Given the description of an element on the screen output the (x, y) to click on. 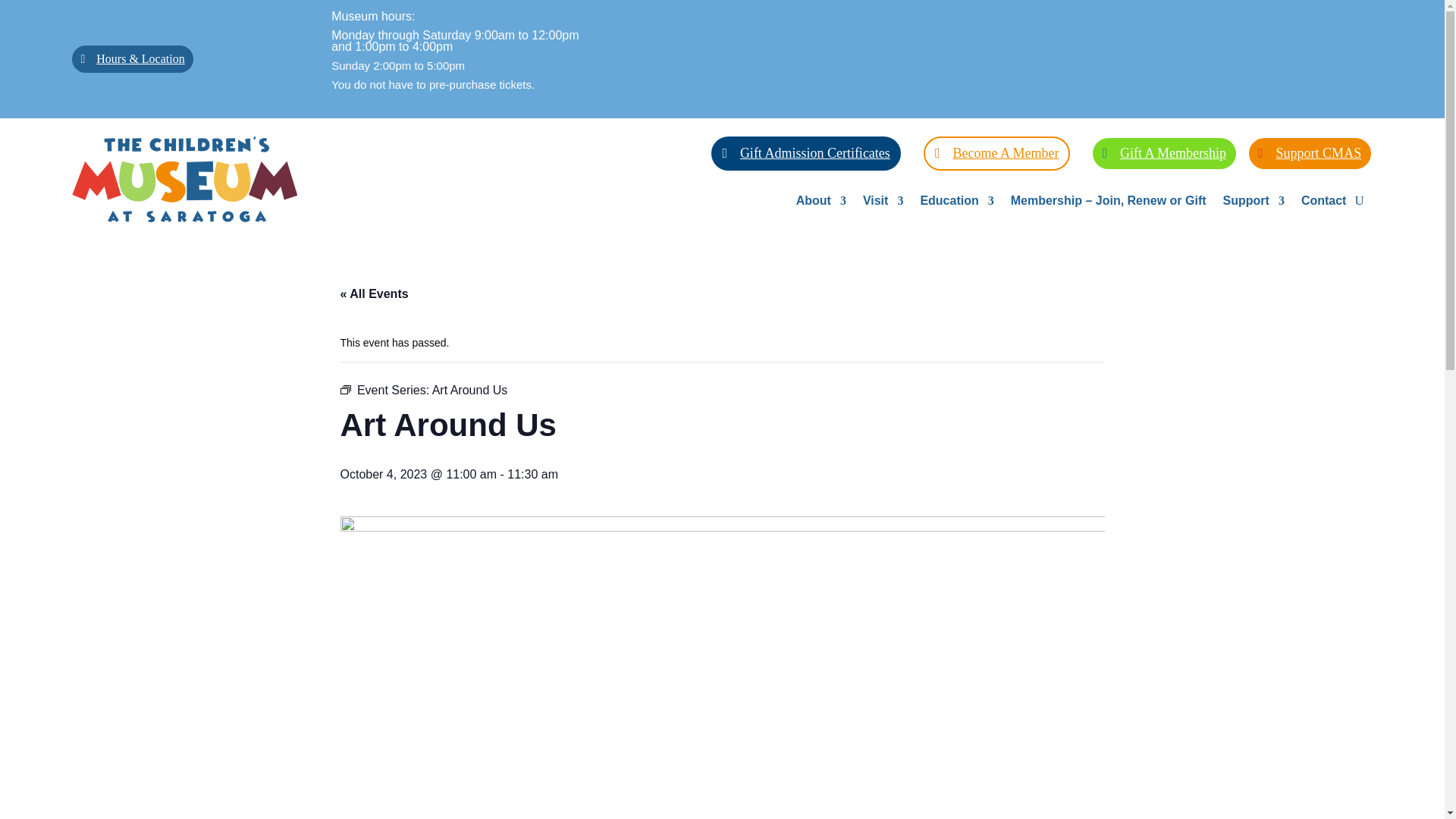
Education (956, 203)
About (820, 203)
Contact (1323, 203)
Gift Admission Certificates (806, 153)
Visit (883, 203)
Event Series (344, 388)
Become A Member (996, 153)
Gift A Membership (1164, 153)
Support (1253, 203)
Support CMAS (1310, 153)
